Given the description of an element on the screen output the (x, y) to click on. 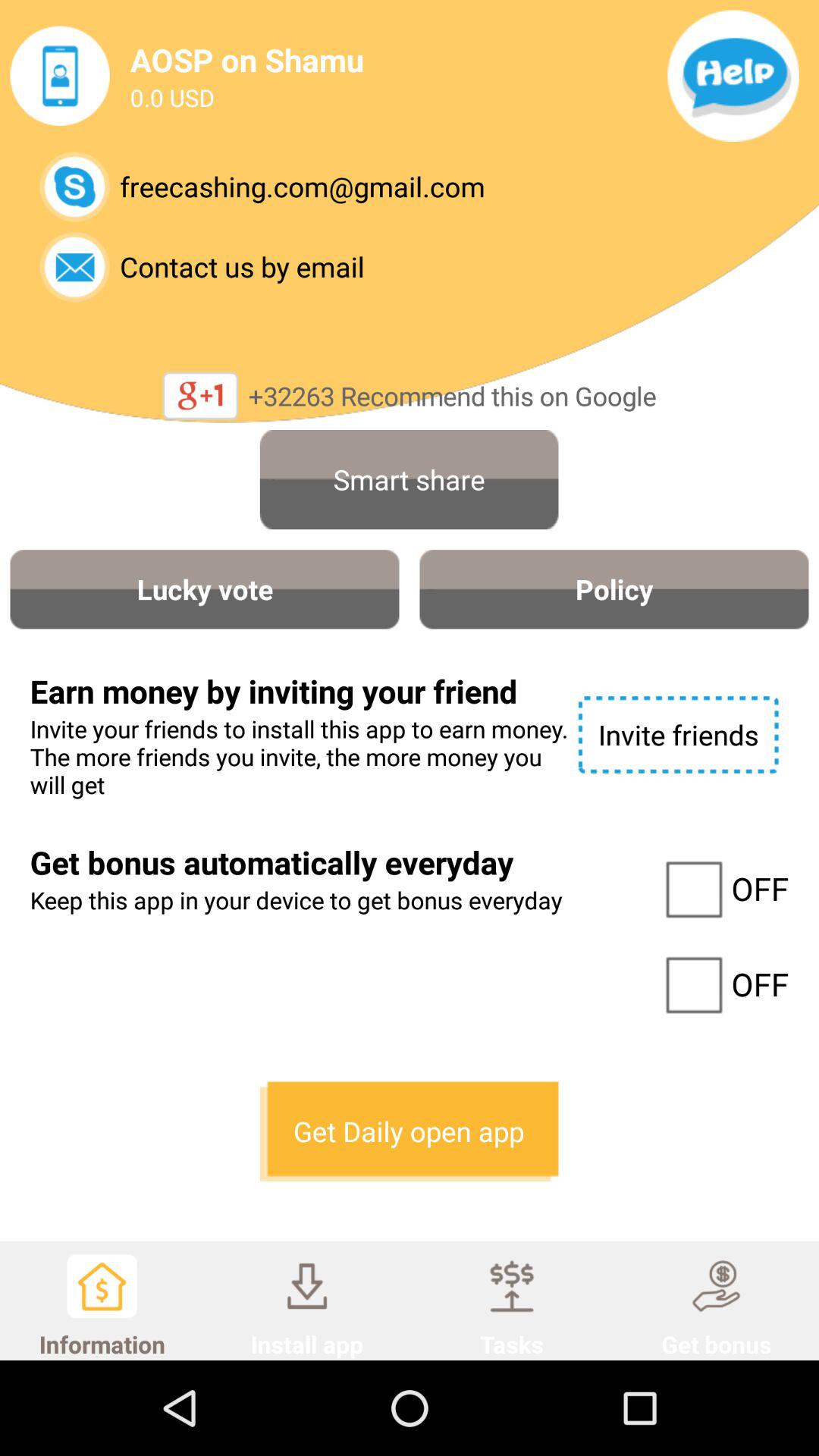
email company (74, 267)
